Given the description of an element on the screen output the (x, y) to click on. 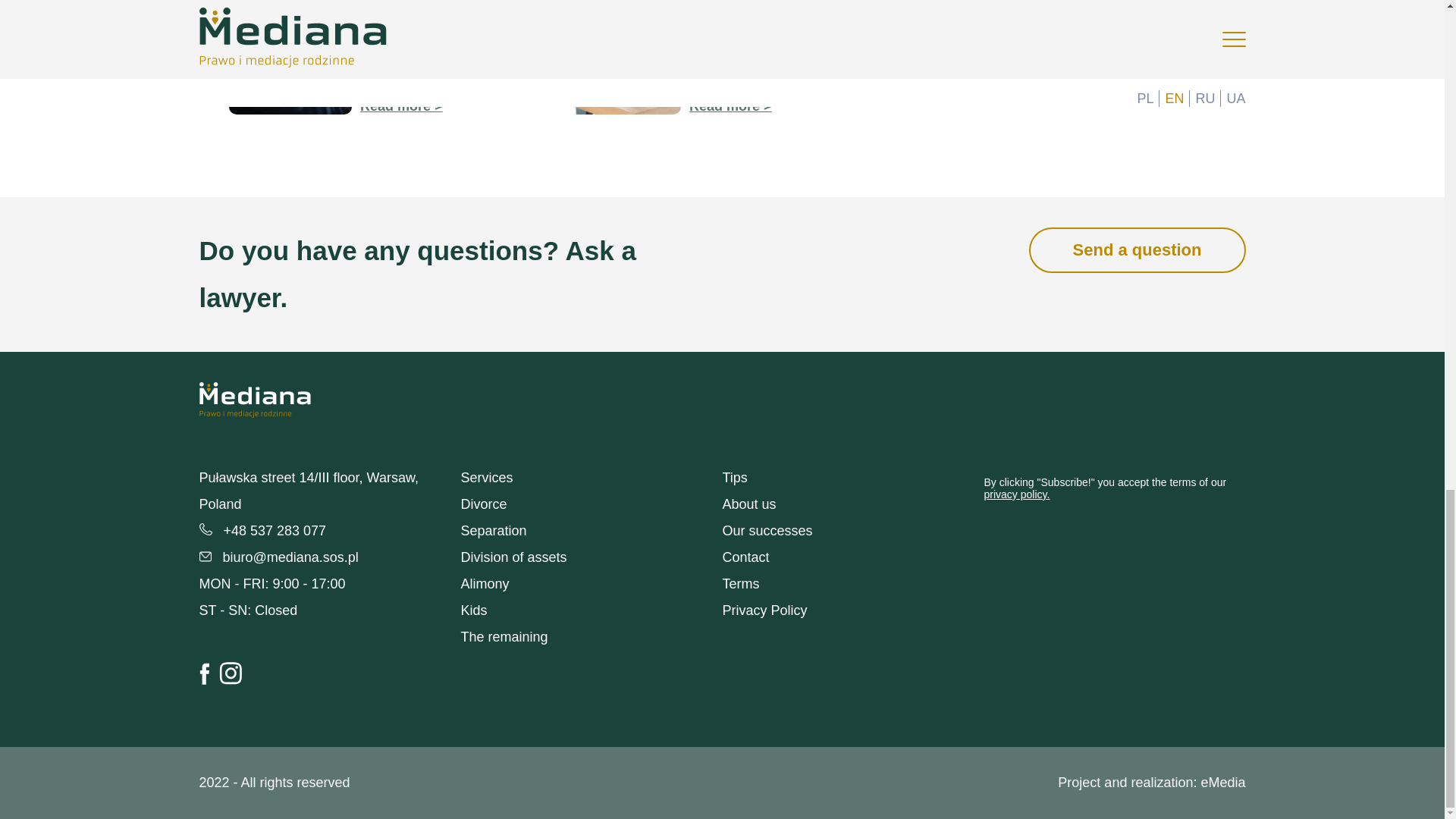
Division of assets (514, 557)
Mediation in family matters (729, 105)
Divorce (483, 503)
Send a question (1137, 249)
Family Law Attorney (400, 105)
Mediation in family matters (764, 4)
Separation (494, 530)
Services (487, 477)
